Given the description of an element on the screen output the (x, y) to click on. 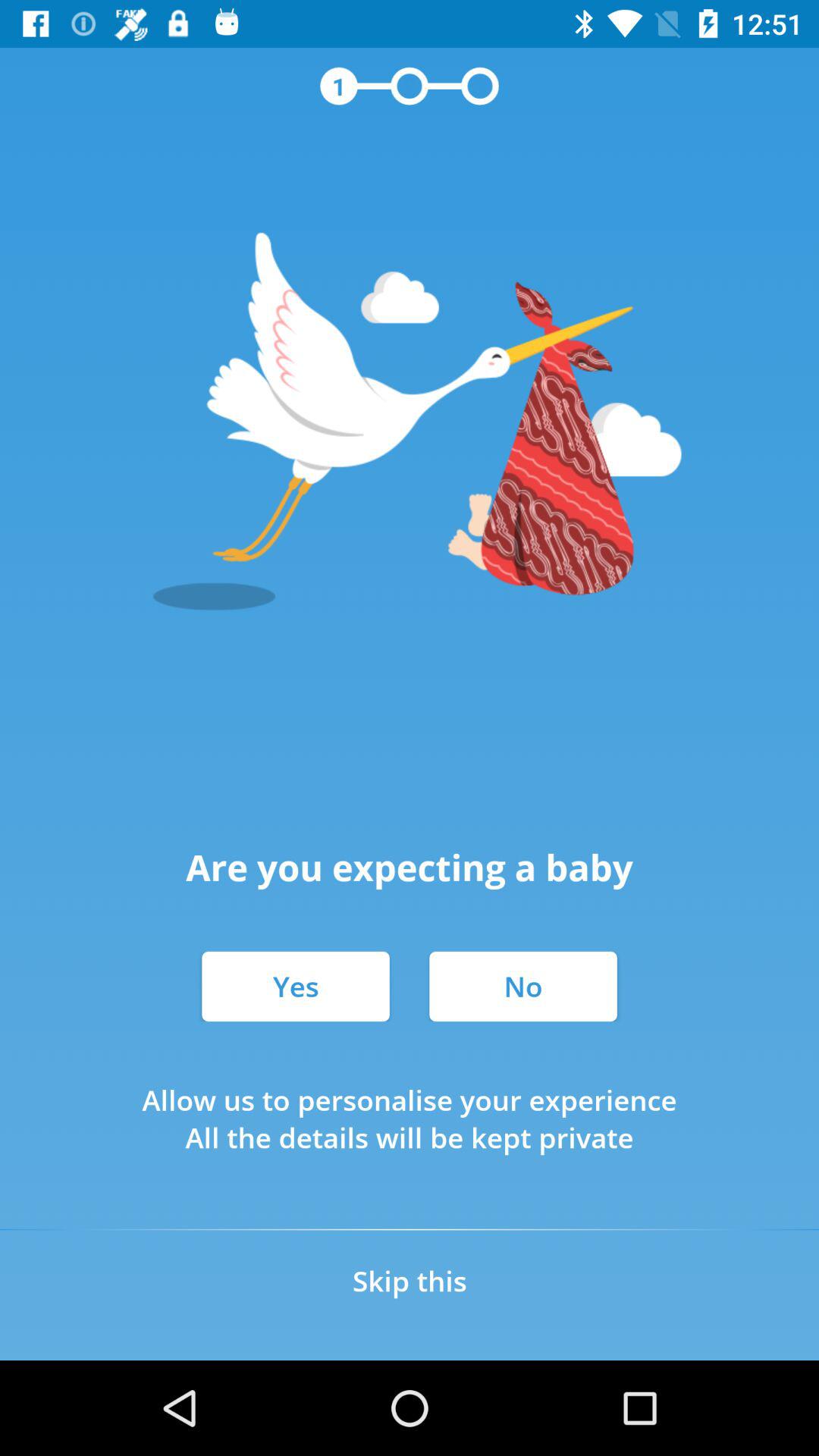
click icon above the allow us to item (523, 986)
